Given the description of an element on the screen output the (x, y) to click on. 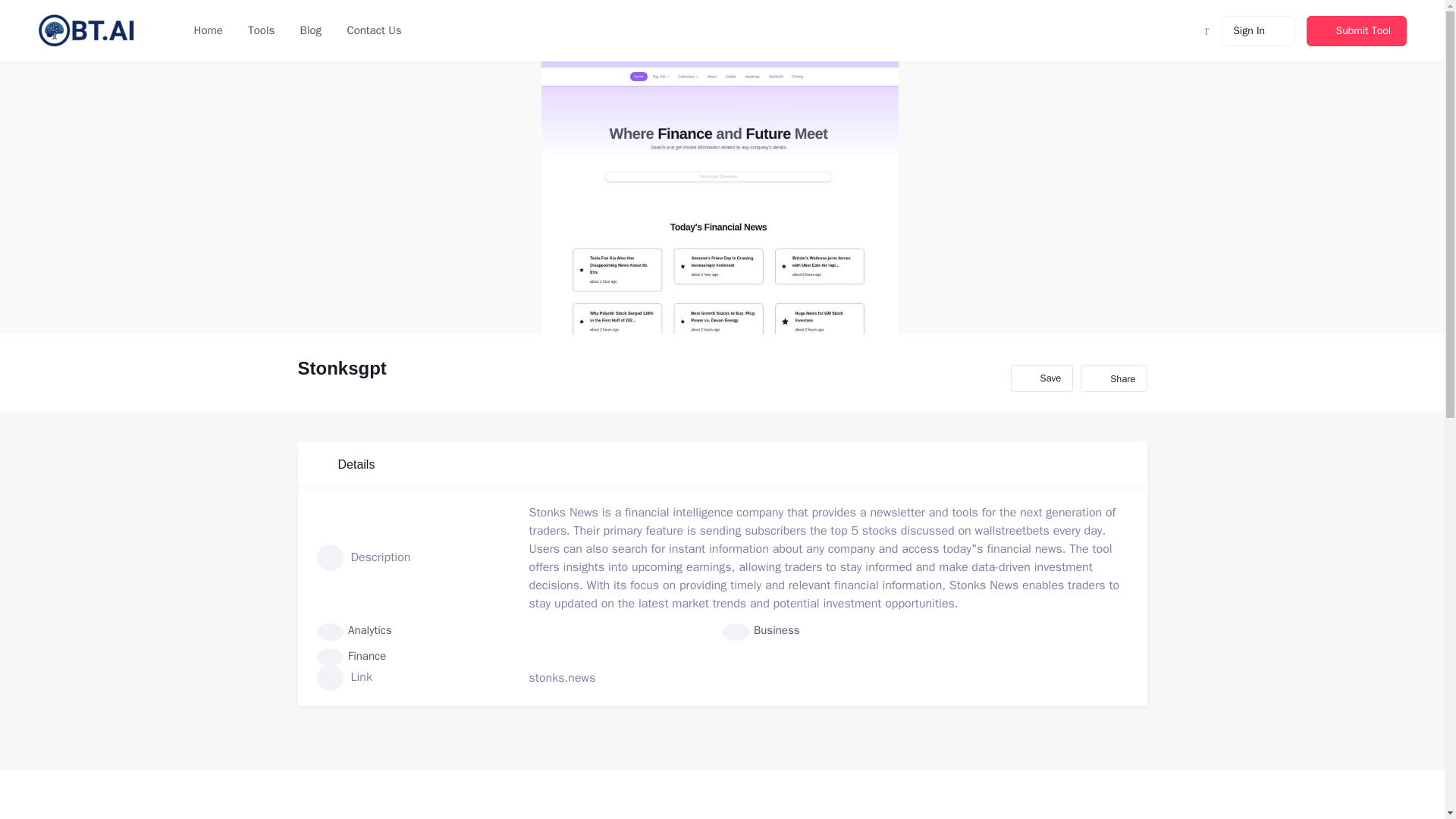
Analytics (354, 630)
Blog (309, 30)
Home (207, 30)
Contact Us (372, 30)
Sign In (1258, 30)
Submit Tool (1356, 30)
Business (760, 630)
Tools (259, 30)
stonks.news (562, 677)
Finance (352, 655)
